Given the description of an element on the screen output the (x, y) to click on. 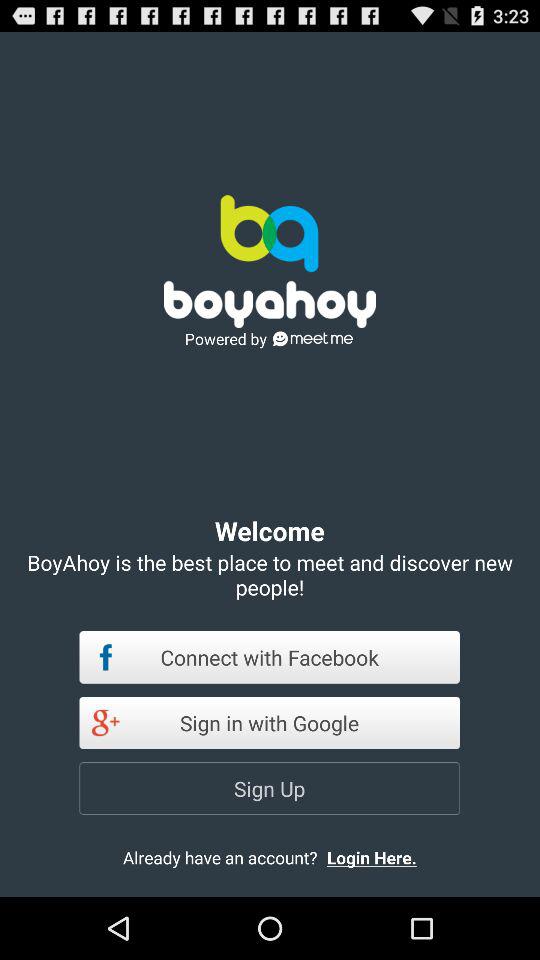
jump to the login here. (388, 857)
